Given the description of an element on the screen output the (x, y) to click on. 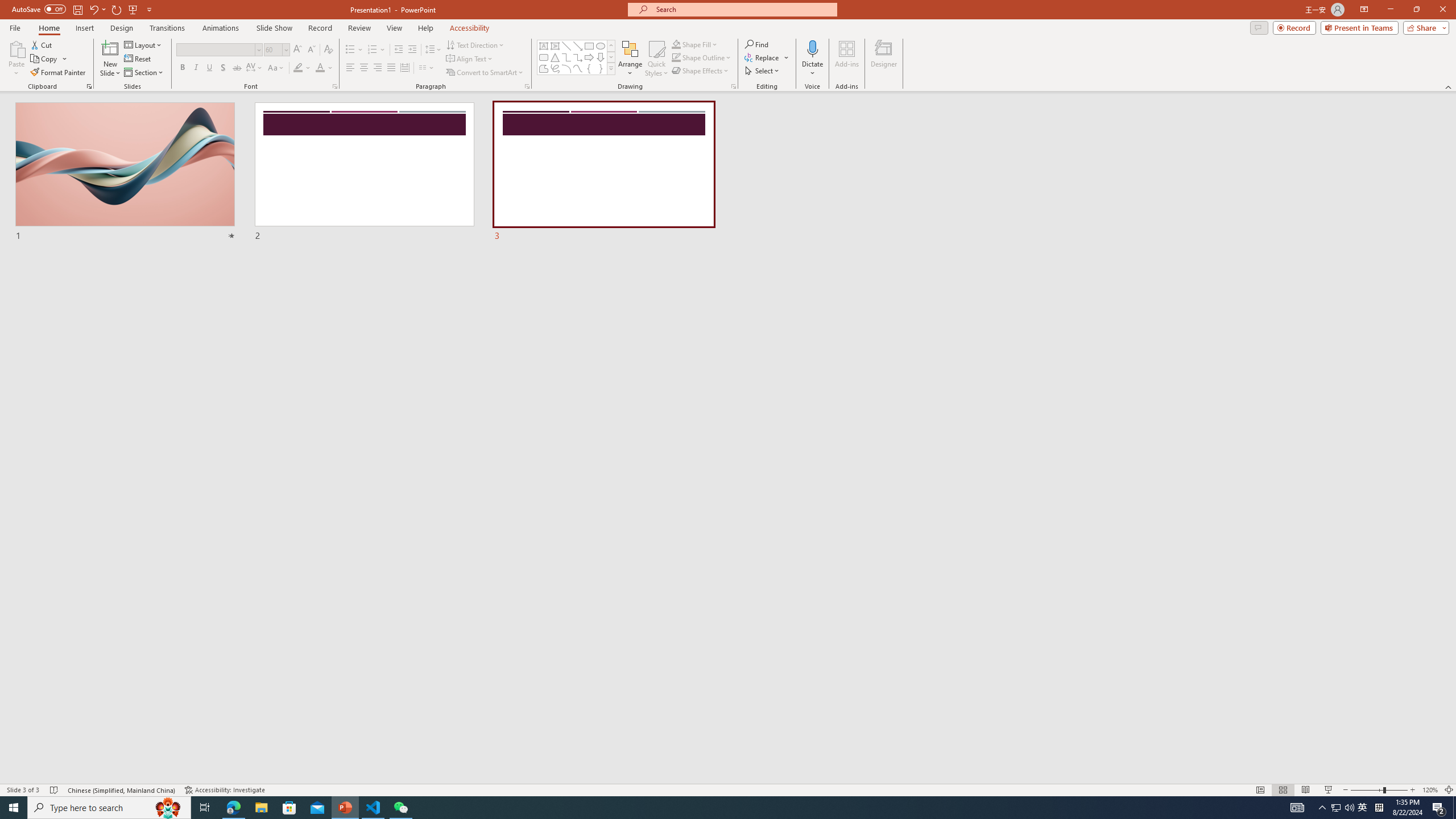
Office Clipboard... (88, 85)
